Given the description of an element on the screen output the (x, y) to click on. 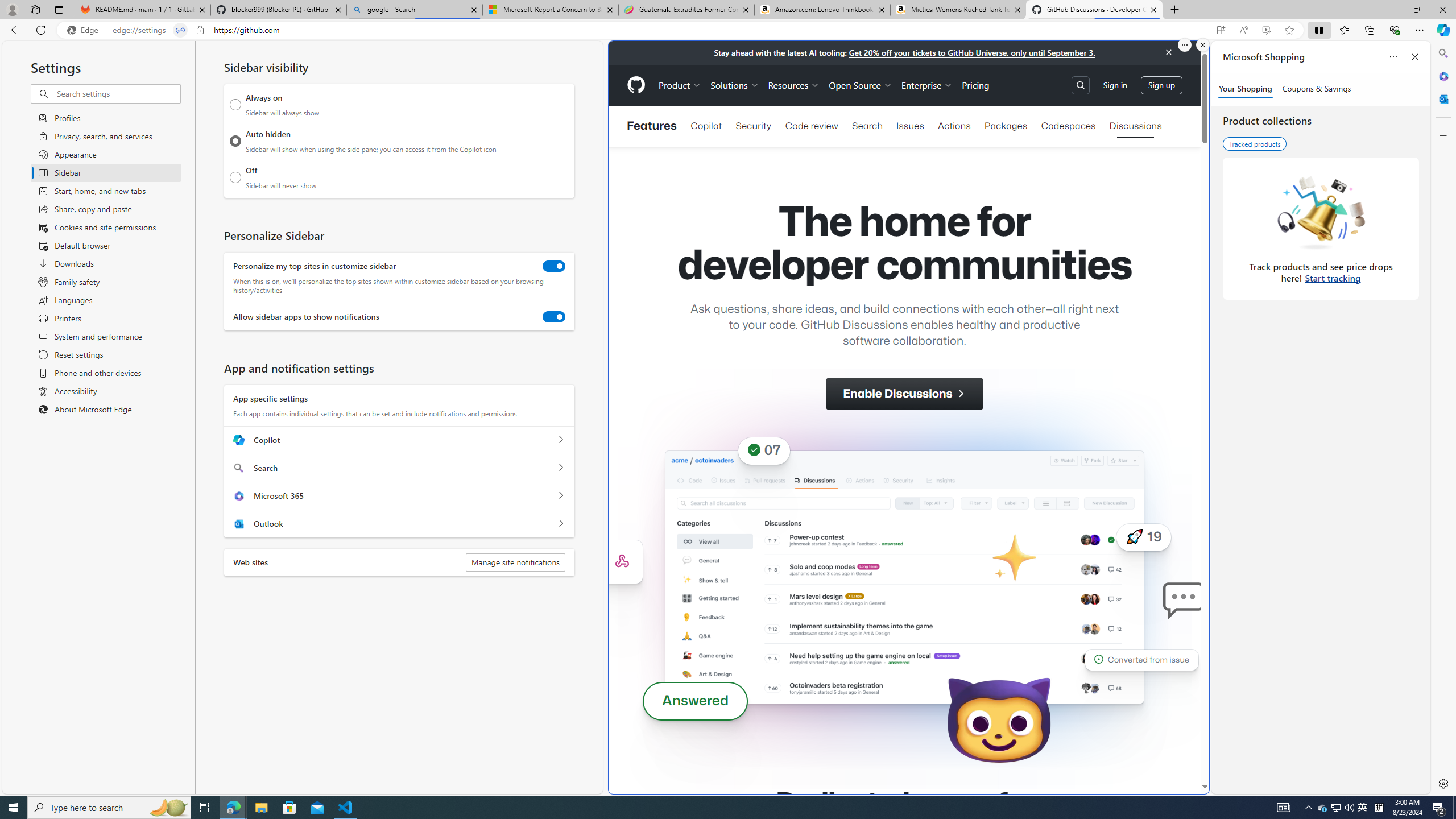
Always on Sidebar will always show (235, 104)
Product (679, 84)
Features (651, 125)
Search settings (117, 93)
Off Sidebar will never show (235, 177)
Code review (811, 125)
Copilot (560, 439)
